Given the description of an element on the screen output the (x, y) to click on. 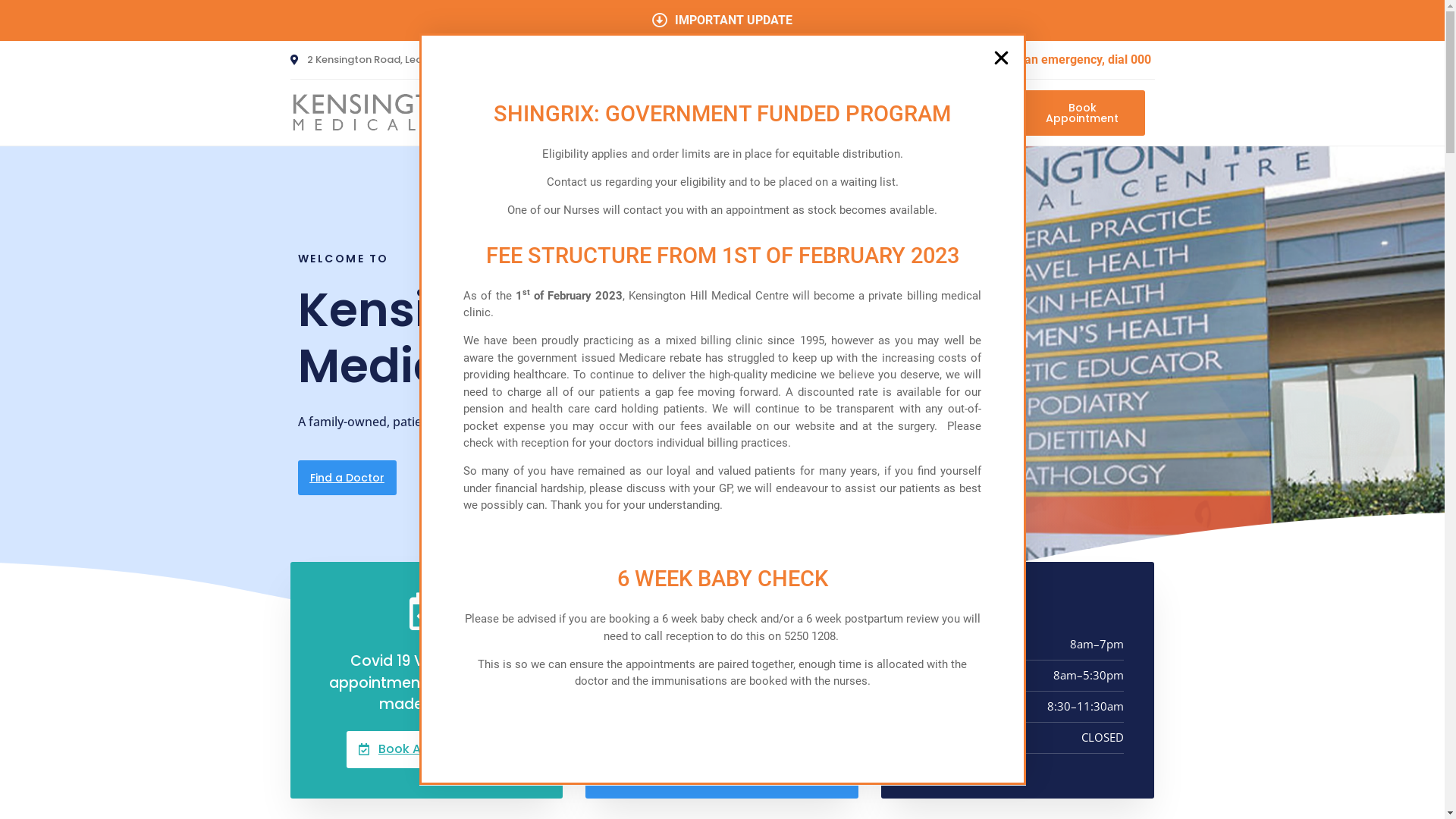
Home Element type: text (674, 112)
Our Services Element type: text (850, 112)
Find a Doctor Element type: text (346, 477)
Our Team Element type: text (752, 112)
In case of an emergency, dial 000 Element type: text (1050, 59)
Contact Us Element type: text (952, 112)
(03) 5250 1208 Element type: text (718, 735)
Book Appointment Element type: text (1073, 111)
Book Appointment Element type: text (426, 749)
Book Online Element type: text (706, 644)
(03) 5250 1208 Element type: text (586, 59)
IMPORTANT UPDATE Element type: text (722, 20)
